Given the description of an element on the screen output the (x, y) to click on. 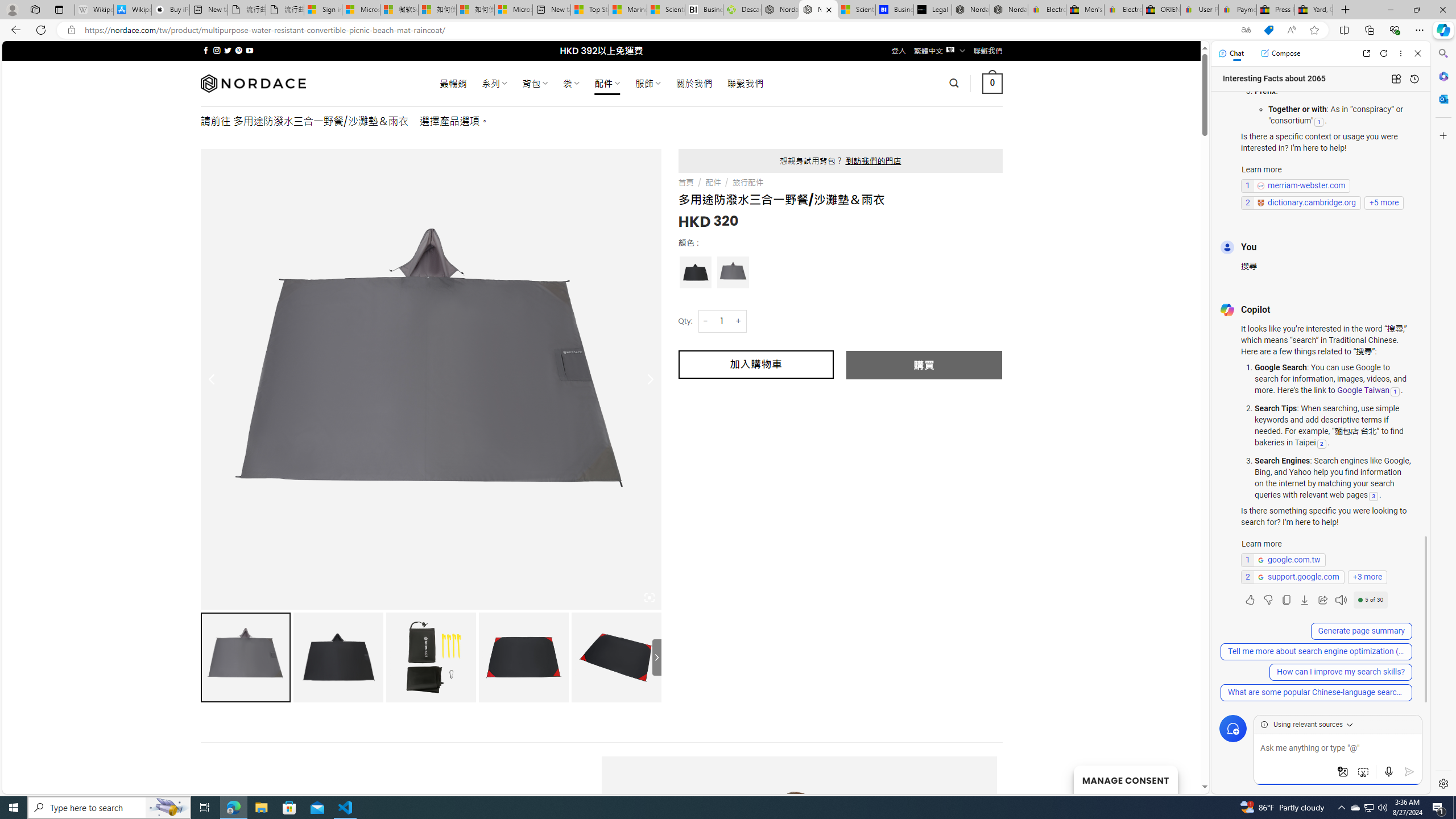
Follow on Pinterest (237, 50)
MANAGE CONSENT (1125, 779)
